Given the description of an element on the screen output the (x, y) to click on. 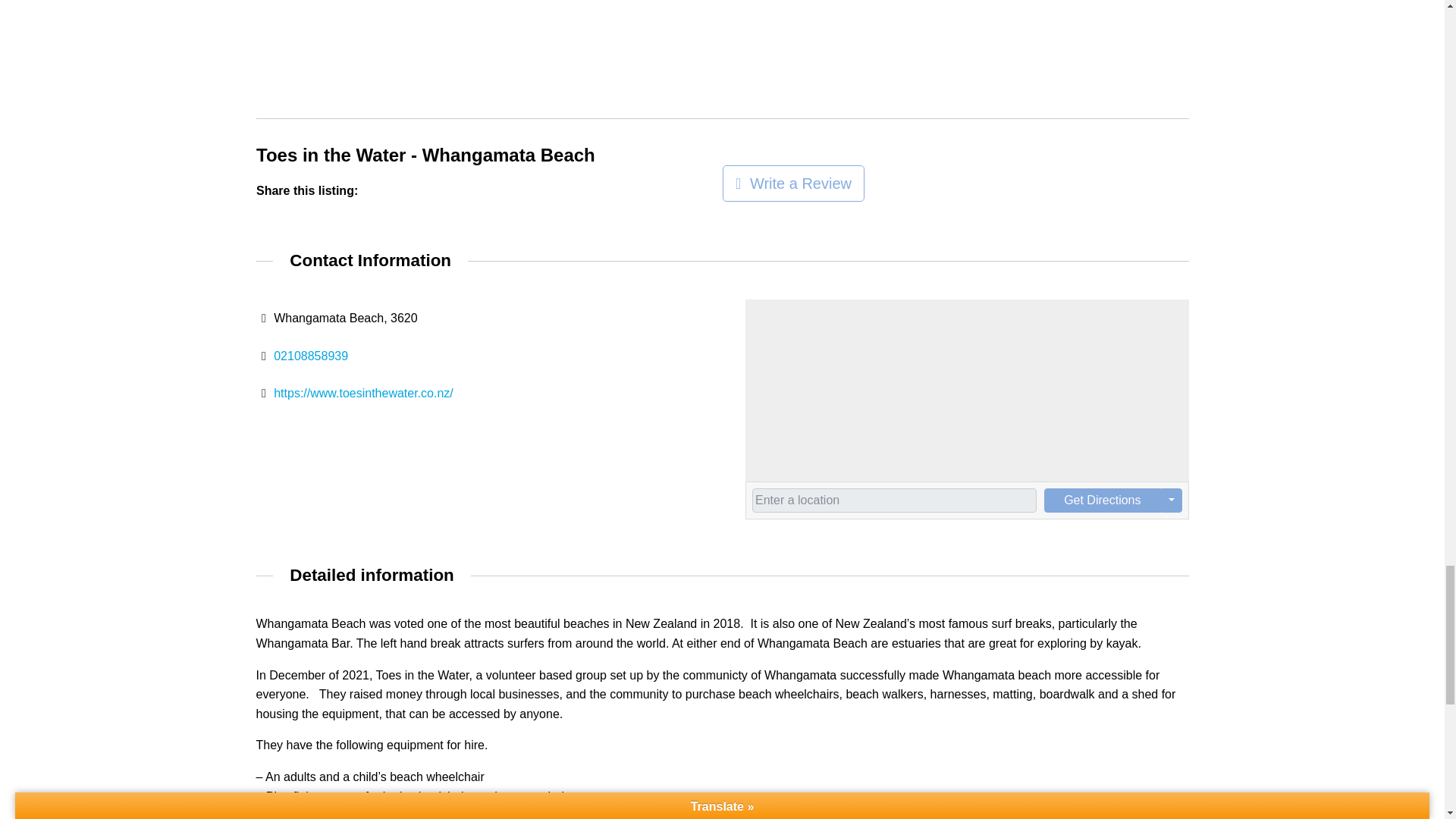
Write a Review (792, 183)
Get Directions (1101, 500)
02108858939 (310, 355)
